Given the description of an element on the screen output the (x, y) to click on. 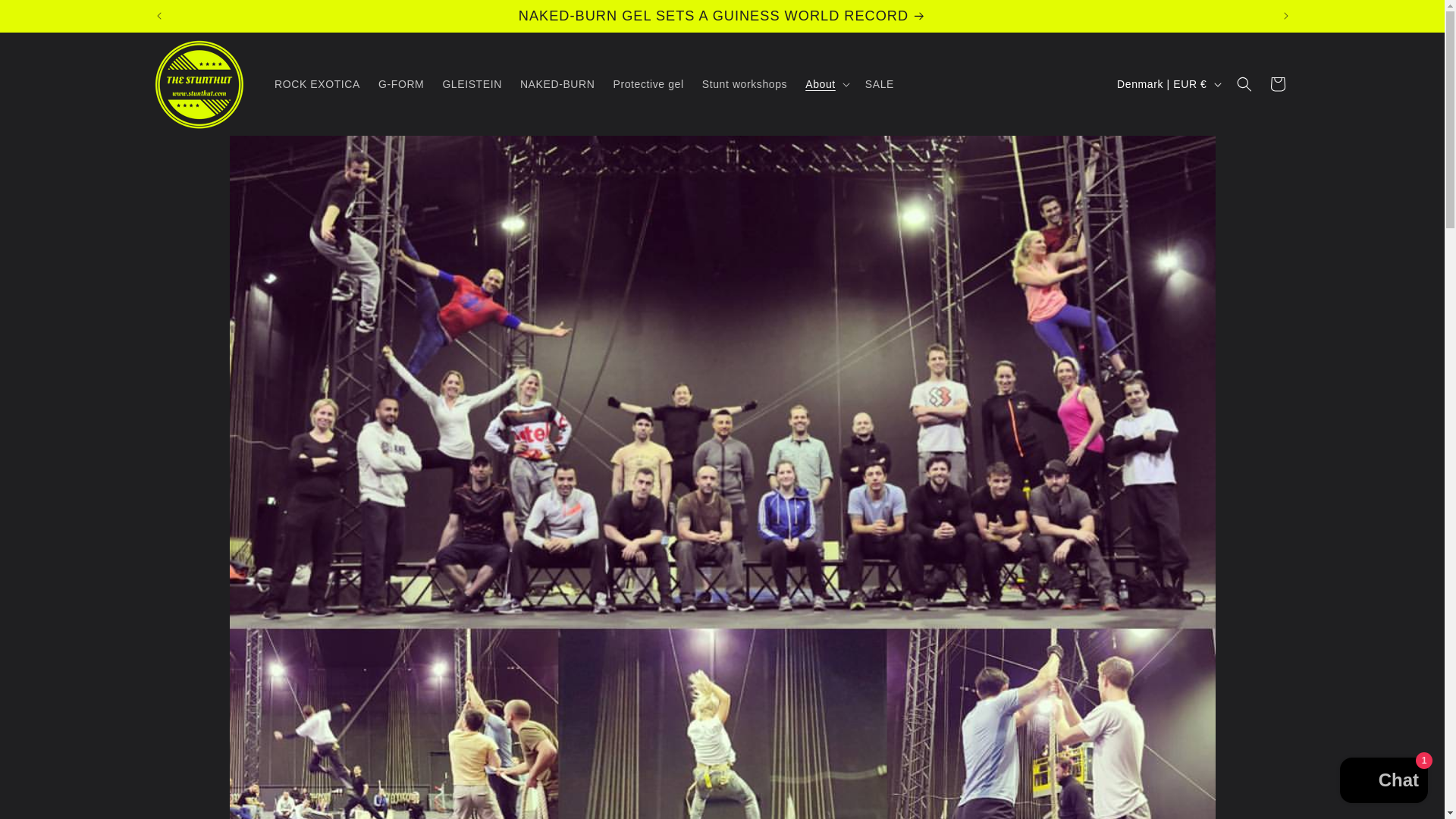
Protective gel (648, 83)
SALE (879, 83)
Skip to content (45, 17)
NAKED-BURN (557, 83)
NAKED-BURN GEL SETS A GUINESS WORLD RECORD (722, 15)
ROCK EXOTICA (316, 83)
GLEISTEIN (471, 83)
Shopify online store chat (1383, 781)
Cart (1277, 83)
Stunt workshops (744, 83)
G-FORM (400, 83)
